Given the description of an element on the screen output the (x, y) to click on. 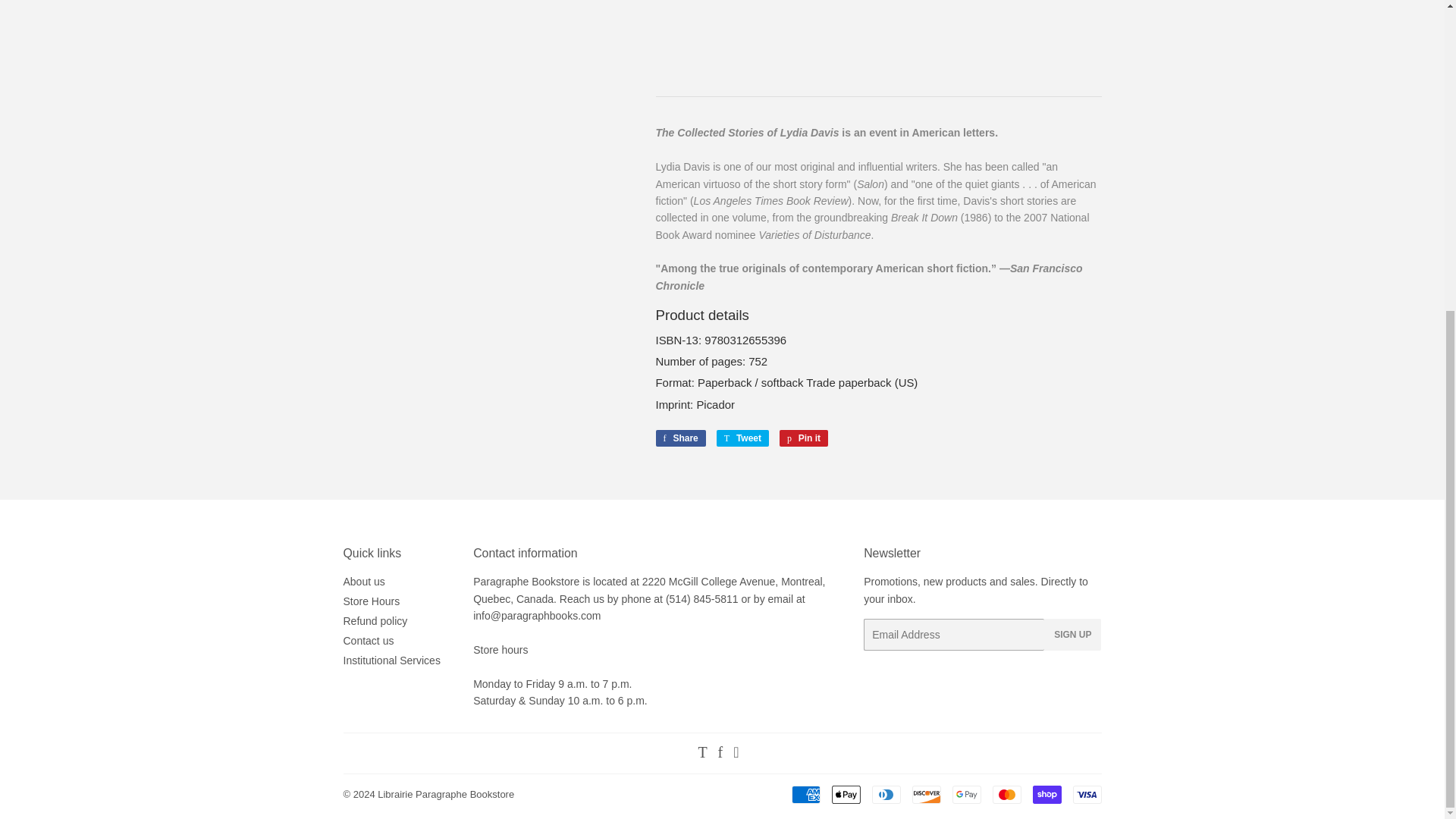
Discover (925, 794)
American Express (806, 794)
Apple Pay (845, 794)
Mastercard (1005, 794)
Pin on Pinterest (803, 437)
Tweet on Twitter (742, 437)
Visa (1085, 794)
Shop Pay (1046, 794)
Google Pay (966, 794)
Share on Facebook (679, 437)
Diners Club (886, 794)
